Given the description of an element on the screen output the (x, y) to click on. 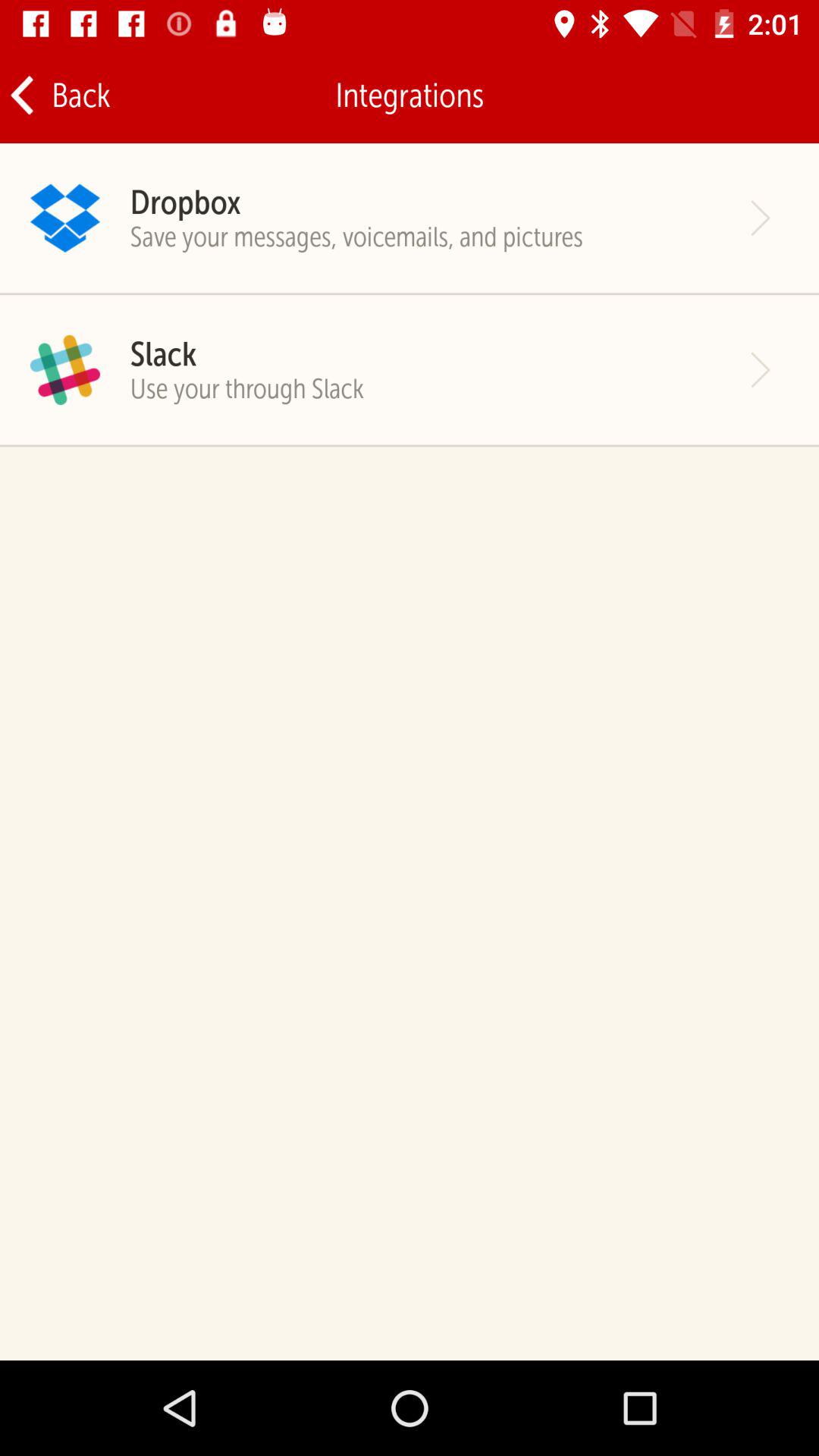
choose use your through item (247, 388)
